Given the description of an element on the screen output the (x, y) to click on. 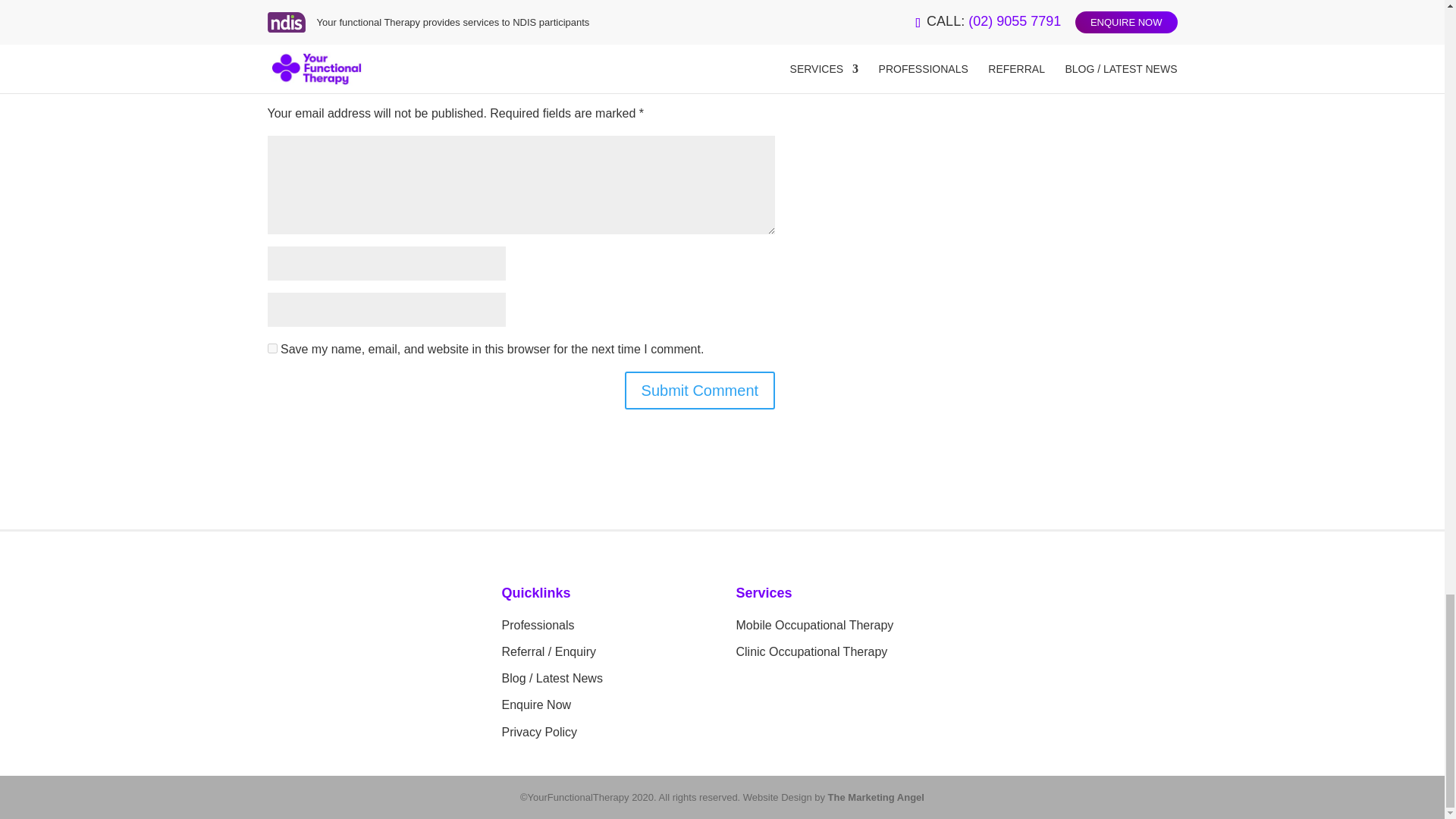
Professionals (538, 625)
yes (271, 347)
Mobile Occupational Therapy (814, 625)
The Marketing Angel (876, 797)
Submit Comment (700, 390)
Enquire Now (537, 704)
Submit Comment (700, 390)
Privacy Policy (540, 731)
Clinic Occupational Therapy (810, 651)
